Given the description of an element on the screen output the (x, y) to click on. 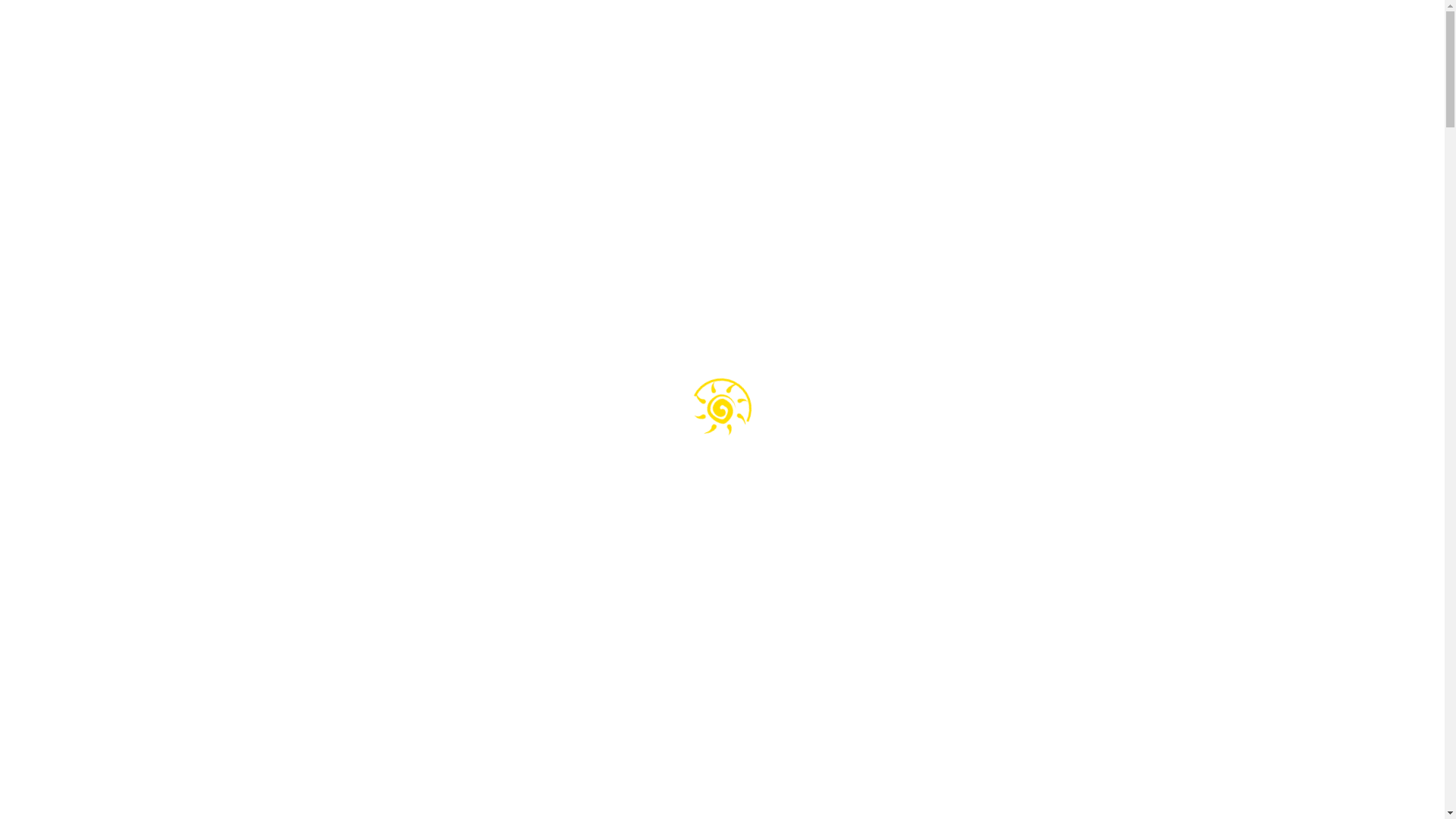
ABOUT US Element type: text (503, 42)
COMMERCIAL SOLAR Element type: text (718, 42)
RESIDENTIAL SOLAR Element type: text (596, 42)
1800 266 878 Element type: text (1169, 41)
CONTACT US Element type: text (934, 42)
PRODUCTS Element type: text (815, 42)
FAQS Element type: text (872, 42)
REQUEST A QUOTE Element type: text (1040, 38)
offerlock Element type: hover (1199, 576)
